Given the description of an element on the screen output the (x, y) to click on. 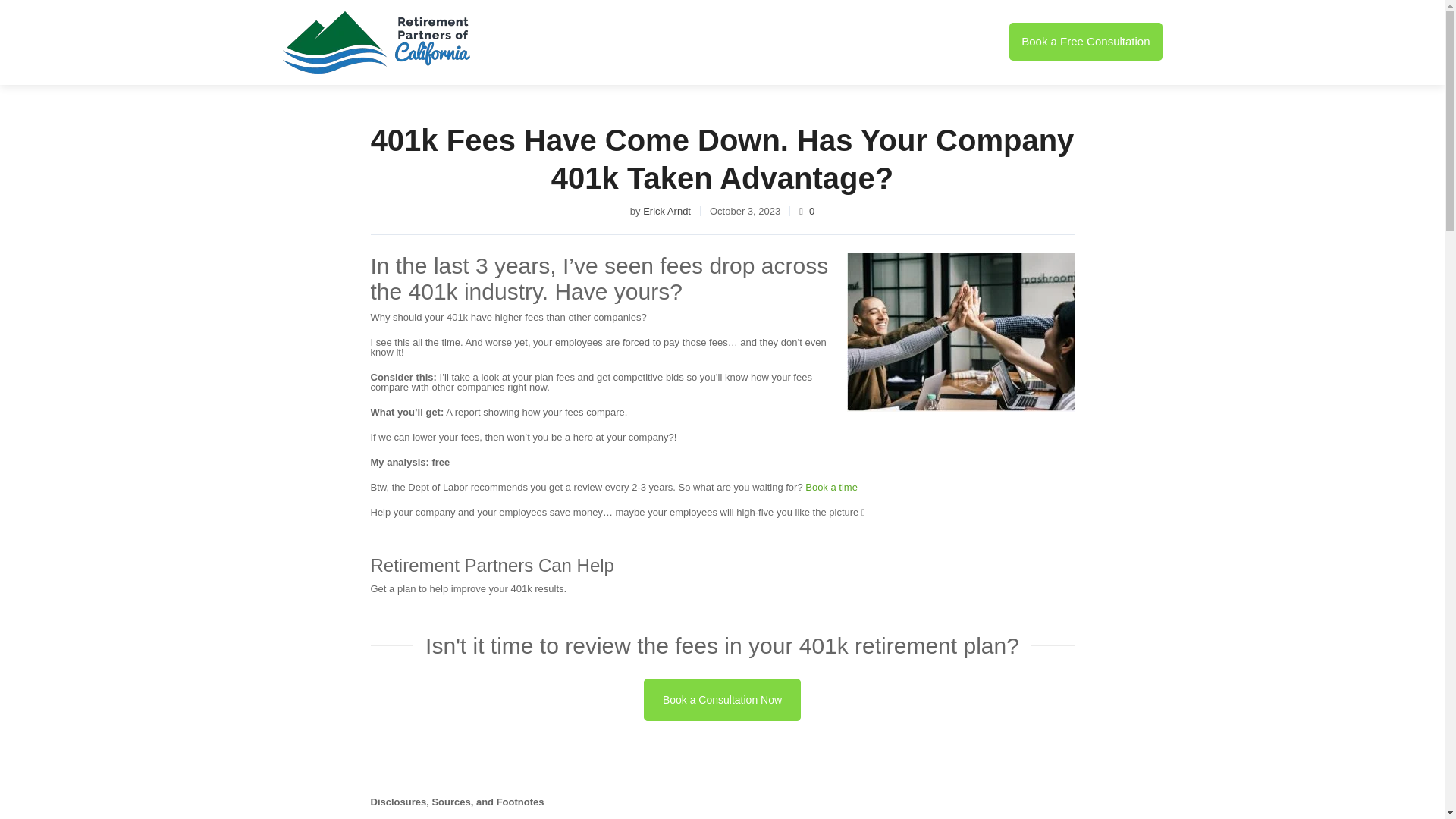
Book a Free Consultation (1085, 41)
Posts by Erick Arndt (666, 211)
0 (806, 211)
Book a time (831, 487)
Book a Consultation Now (721, 699)
Erick Arndt (666, 211)
